Given the description of an element on the screen output the (x, y) to click on. 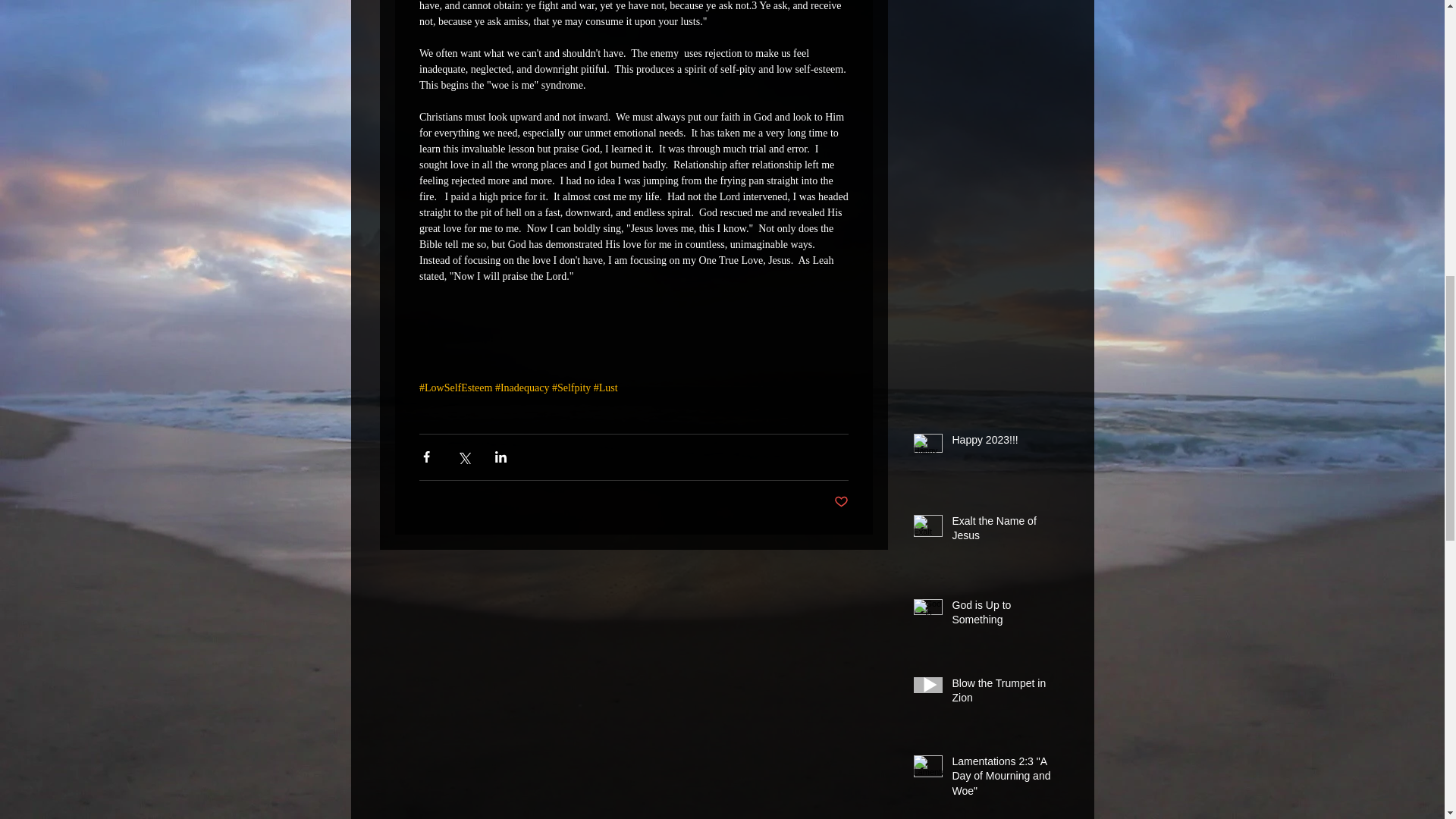
Lamentations 2:3 "A Day of Mourning and Woe" (1006, 779)
God is Up to Something (1006, 615)
Blow the Trumpet in Zion (1006, 693)
Exalt the Name of Jesus (1006, 531)
Post not marked as liked (841, 502)
Happy 2023!!! (1006, 443)
